Given the description of an element on the screen output the (x, y) to click on. 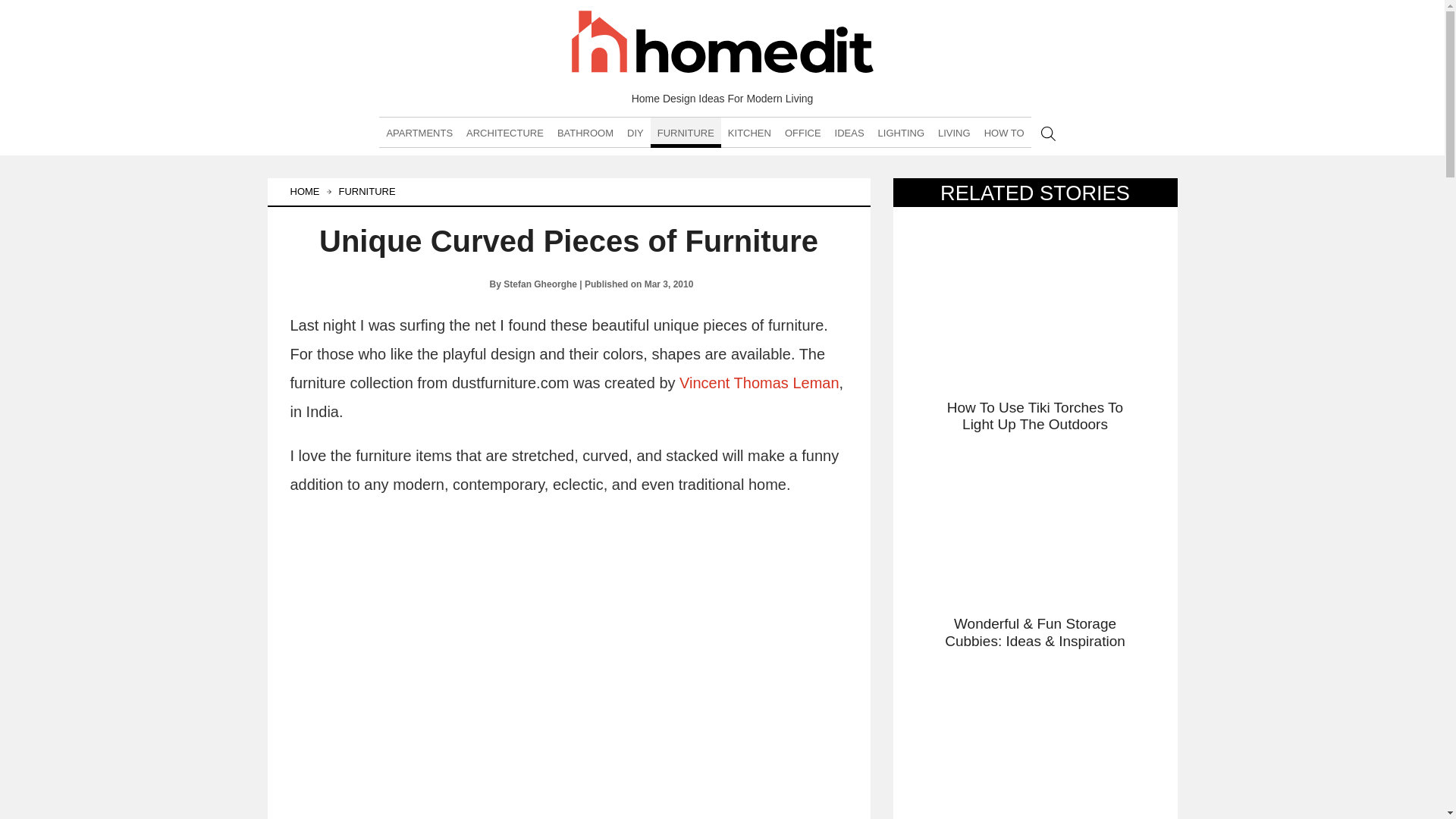
30 Fire Pit Seating Ideas for Great Socializing (1035, 737)
Search (1047, 133)
FURNITURE (685, 132)
OFFICE (802, 132)
HOW TO (1003, 132)
KITCHEN (748, 132)
BATHROOM (585, 132)
LIGHTING (900, 132)
APARTMENTS (419, 132)
FURNITURE (370, 191)
